Given the description of an element on the screen output the (x, y) to click on. 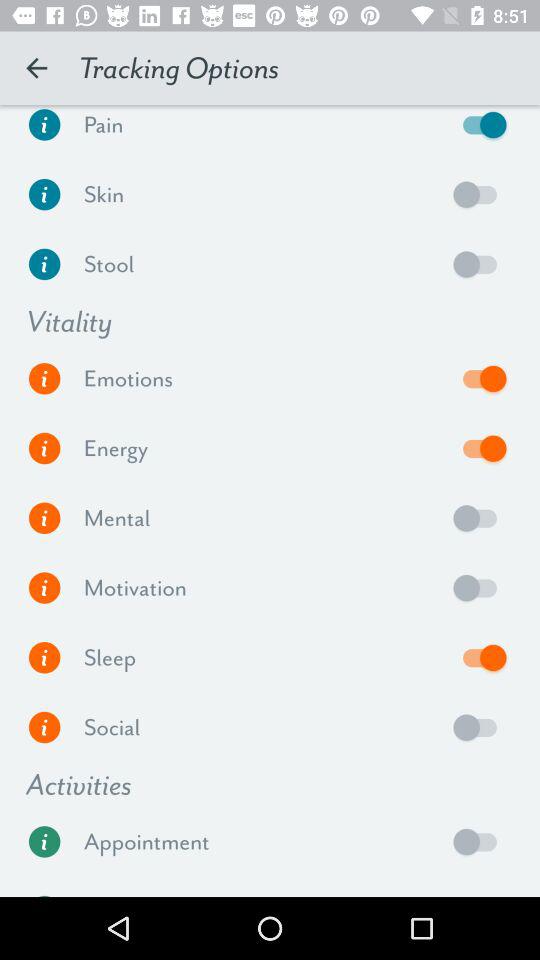
toggle energy vitality (479, 448)
